Given the description of an element on the screen output the (x, y) to click on. 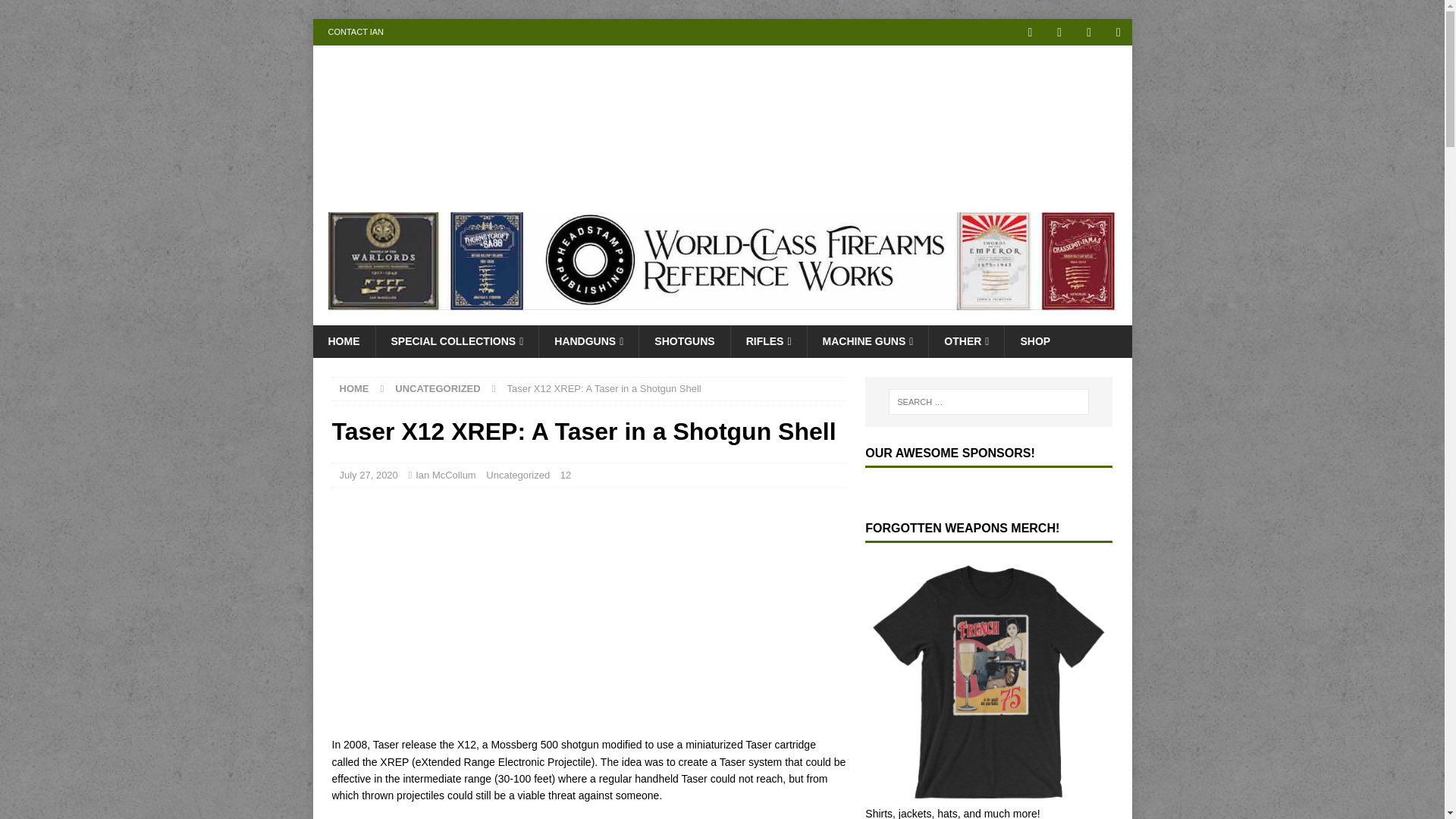
Uncategorized (437, 388)
Home (354, 388)
Forgotten Weapons (540, 188)
Taser X12 XREP: A Taser in a Shotgun Shell (521, 609)
CONTACT IAN (355, 31)
